Given the description of an element on the screen output the (x, y) to click on. 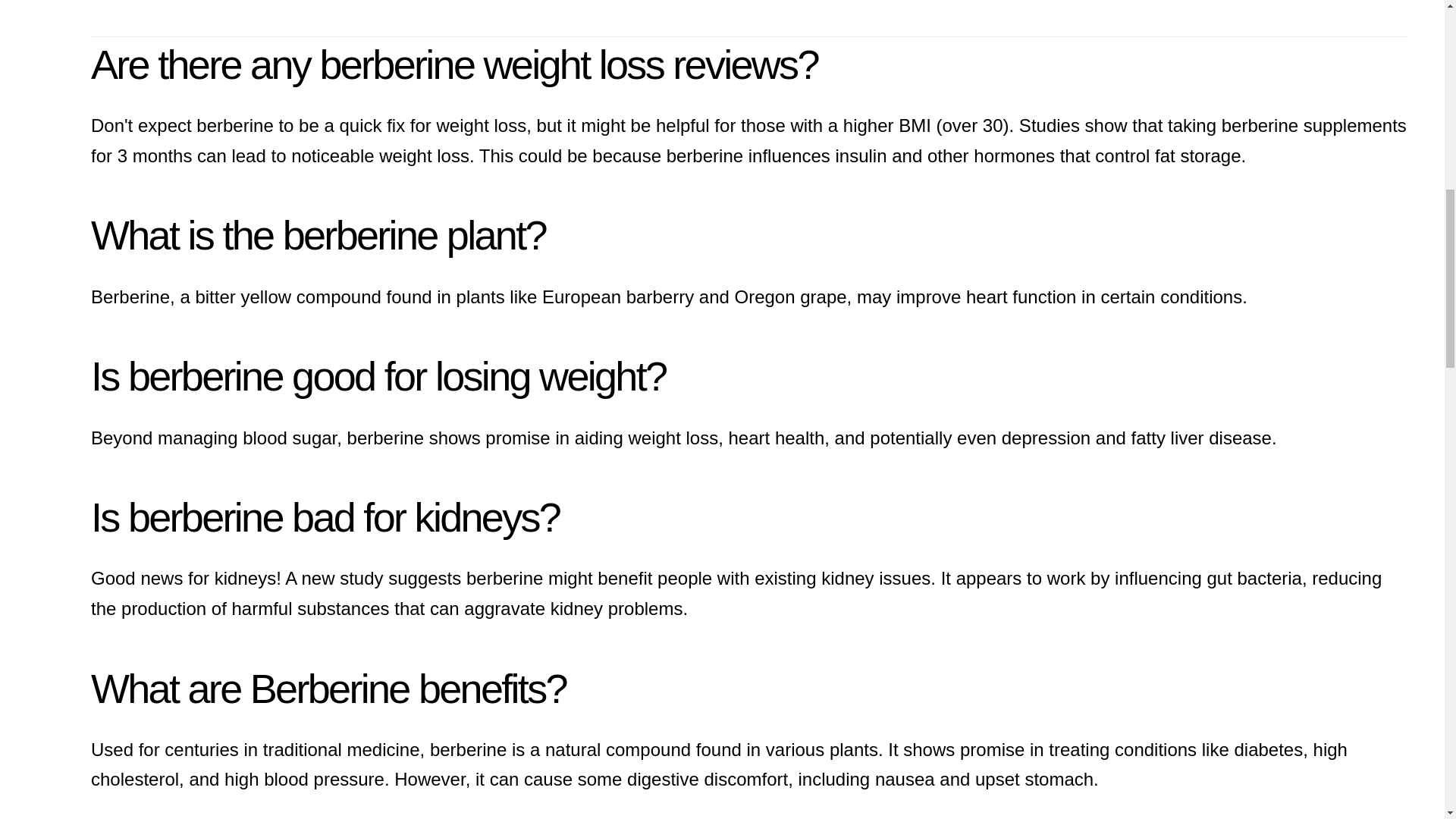
What is the berberine plant? (318, 234)
Is berberine good for losing weight? (377, 375)
Are there any berberine weight loss reviews? (454, 63)
What are Berberine benefits? (328, 688)
Is berberine bad for kidneys? (324, 516)
